Given the description of an element on the screen output the (x, y) to click on. 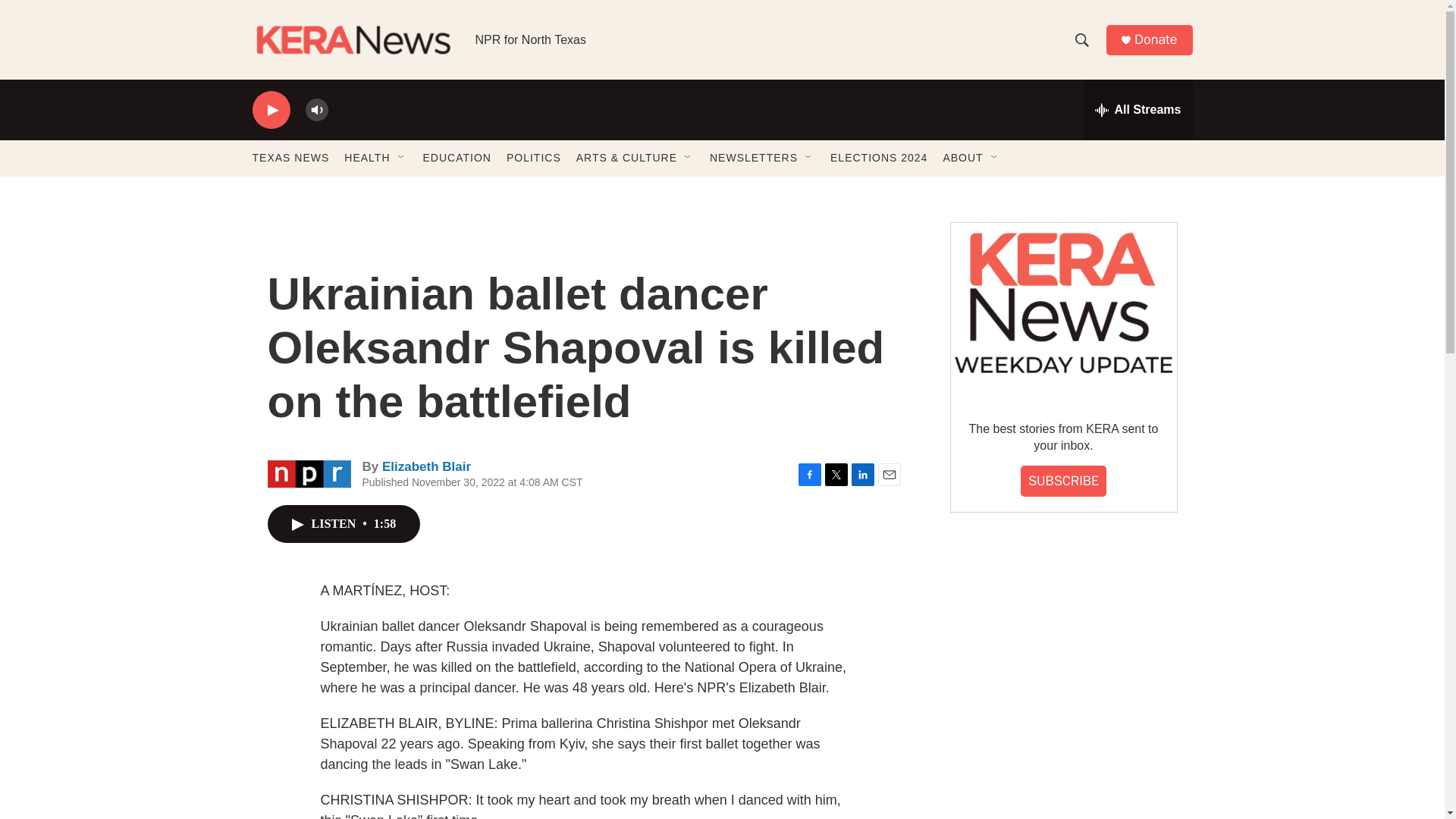
Show Search (1081, 39)
